Given the description of an element on the screen output the (x, y) to click on. 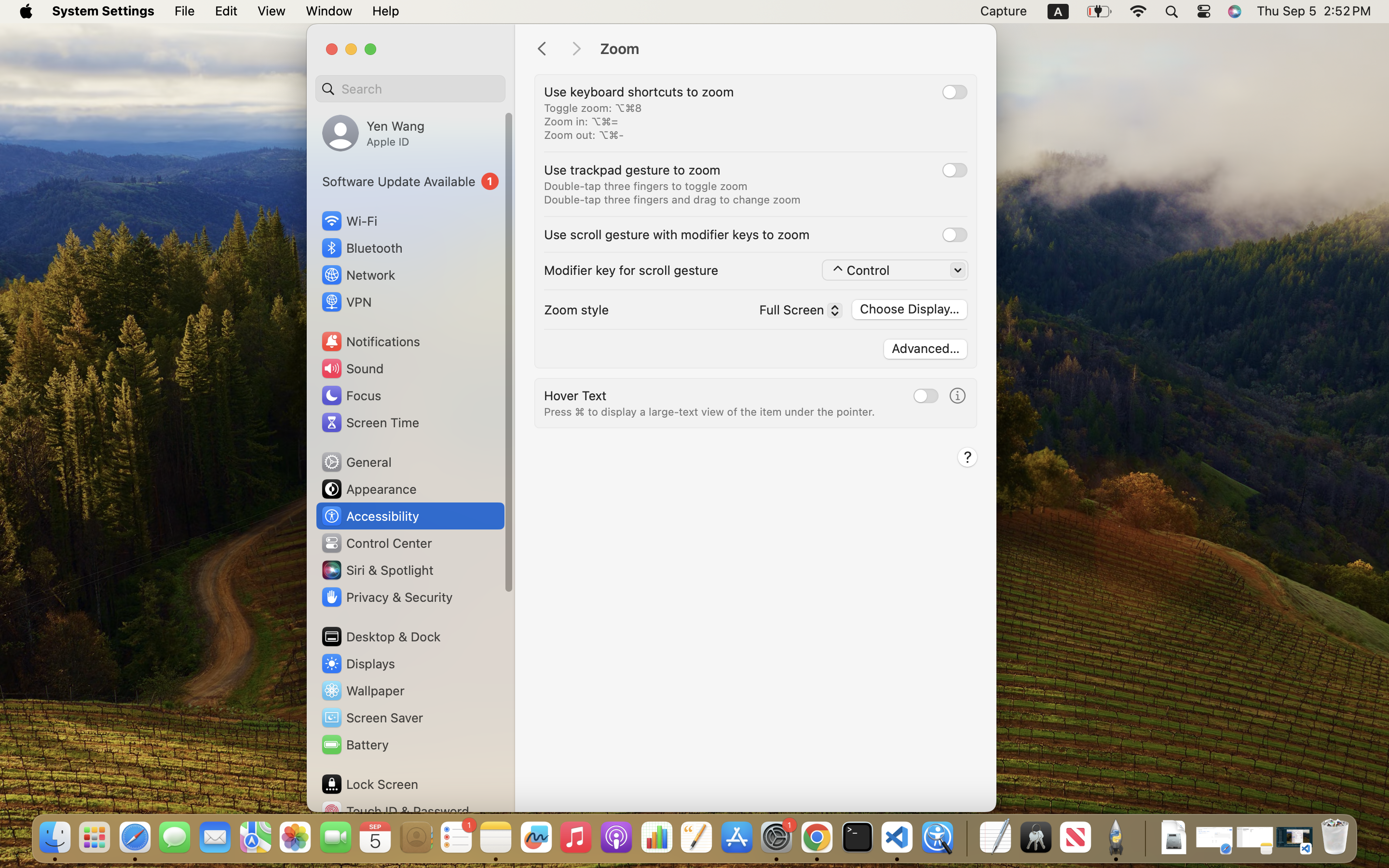
Hover Text Element type: AXStaticText (575, 395)
Use scroll gesture with modifier keys to zoom Element type: AXStaticText (676, 234)
Toggle zoom: ⌥⌘8
Zoom in: ⌥⌘=
Zoom out: ⌥⌘- Element type: AXStaticText (593, 121)
Sound Element type: AXStaticText (351, 367)
